Given the description of an element on the screen output the (x, y) to click on. 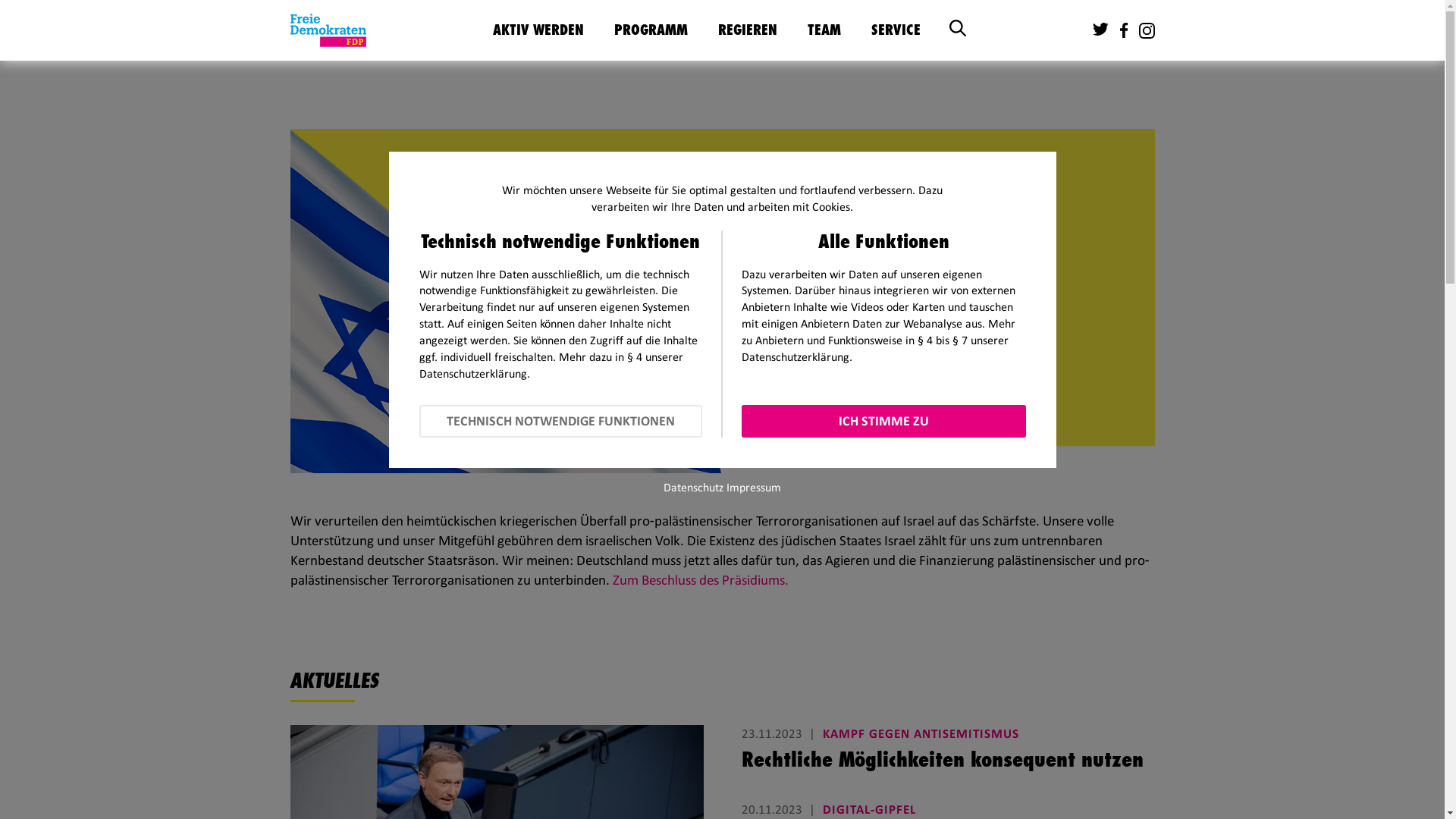
Zur Startseite Element type: hover (327, 30)
TEAM Element type: text (823, 29)
PROGRAMM Element type: text (650, 29)
ICH STIMME ZU Element type: text (883, 420)
Skip to main content Element type: text (0, 0)
Impressum Element type: text (753, 486)
REGIEREN Element type: text (746, 29)
Datenschutz Element type: text (693, 486)
Unsere Werte Element type: text (711, 76)
AKTIV WERDEN Element type: text (537, 29)
TECHNISCH NOTWENDIGE FUNKTIONEN Element type: text (560, 420)
Pressestelle Element type: text (969, 76)
Unser Regierungsteam Element type: text (816, 76)
Bundesvorstand Element type: text (905, 76)
SERVICE Element type: text (894, 29)
Mitglied werden Element type: text (590, 76)
